Given the description of an element on the screen output the (x, y) to click on. 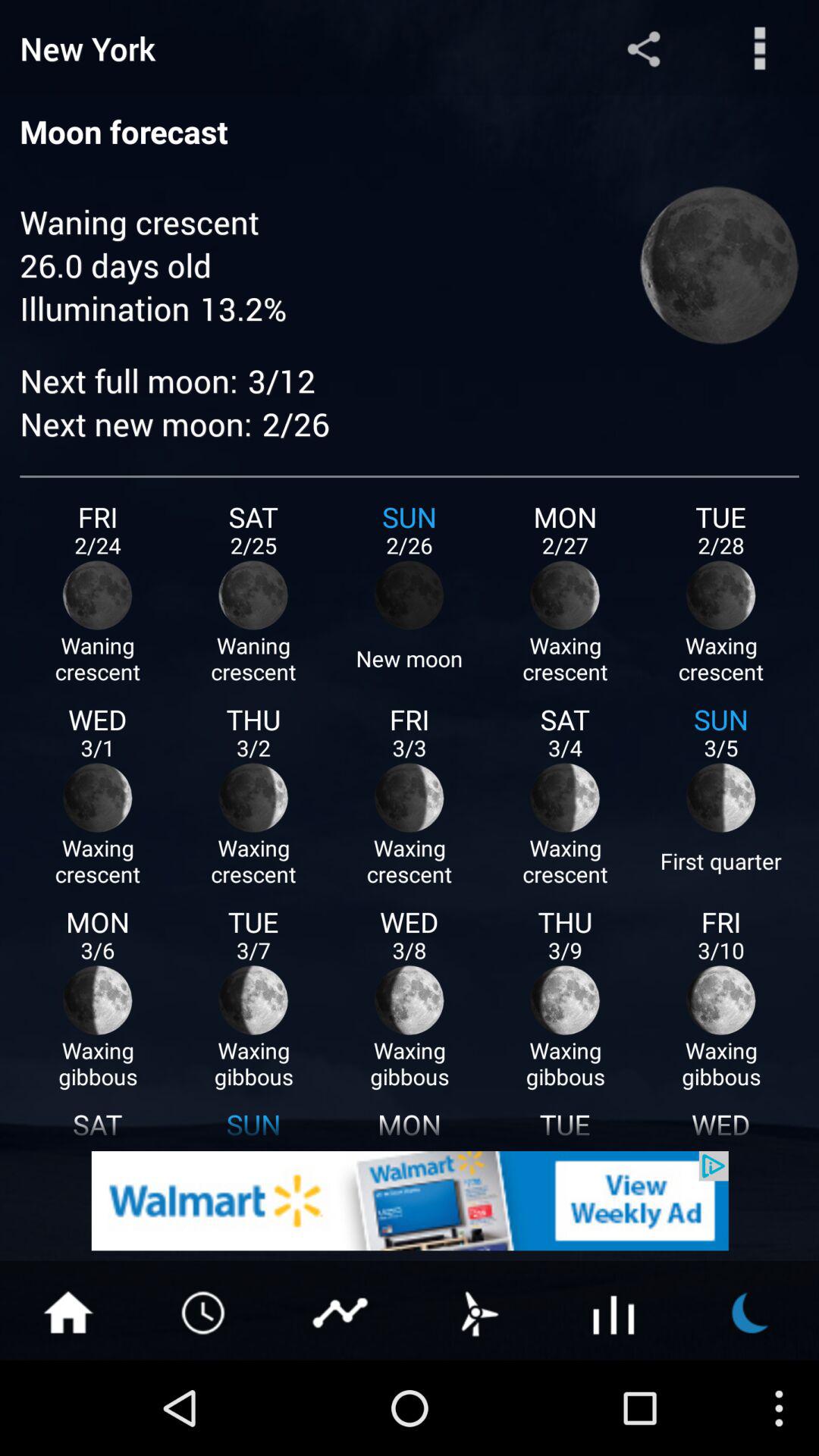
share forecast (643, 48)
